Given the description of an element on the screen output the (x, y) to click on. 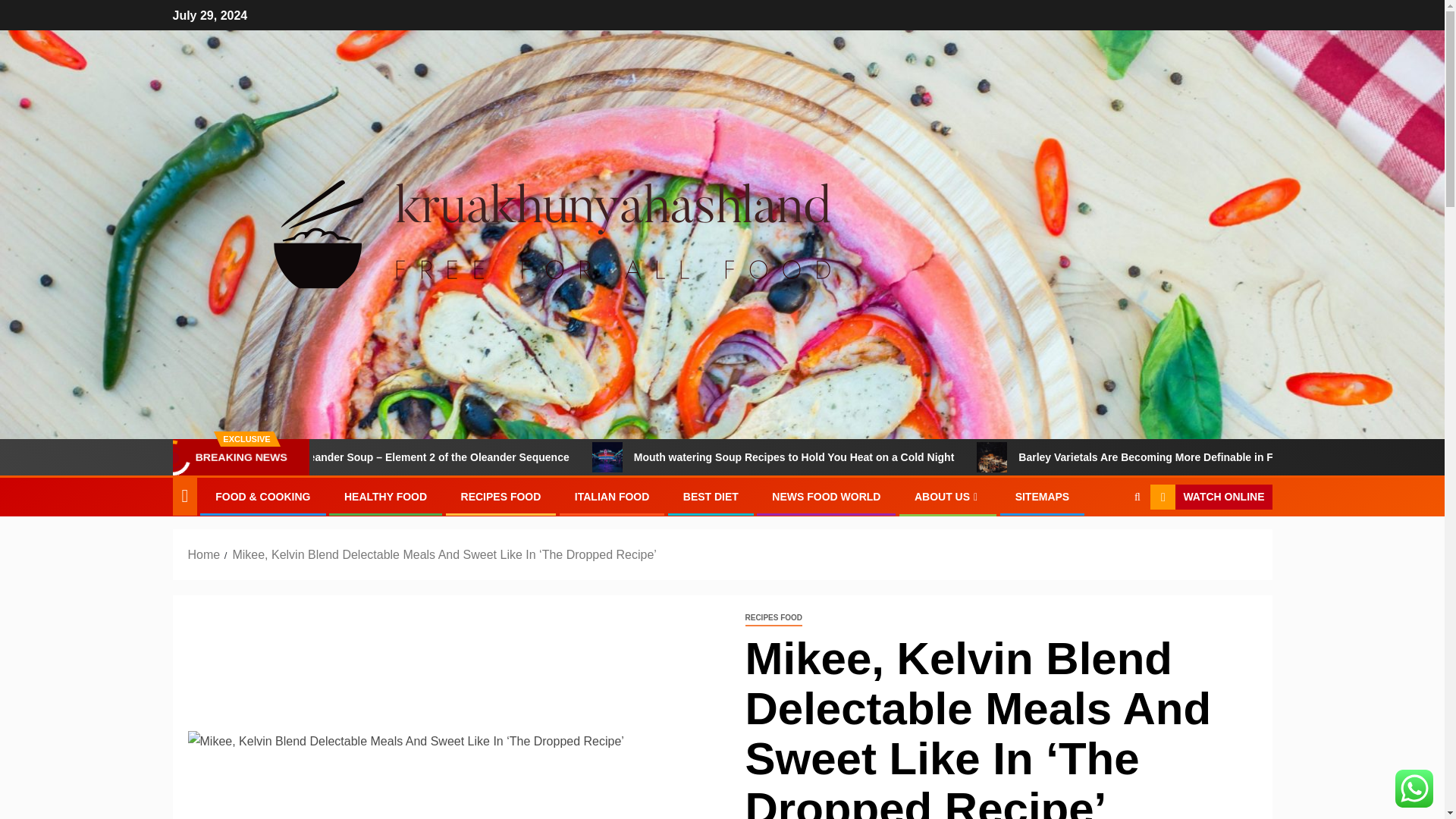
ITALIAN FOOD (612, 496)
WATCH ONLINE (1210, 497)
Mouth watering Soup Recipes to Hold You Heat on a Cold Night (903, 457)
SITEMAPS (1042, 496)
Search (1107, 543)
RECIPES FOOD (773, 618)
RECIPES FOOD (501, 496)
Home (204, 554)
Mouth watering Soup Recipes to Hold You Heat on a Cold Night (692, 457)
BEST DIET (710, 496)
ABOUT US (947, 496)
HEALTHY FOOD (384, 496)
NEWS FOOD WORLD (825, 496)
